Given the description of an element on the screen output the (x, y) to click on. 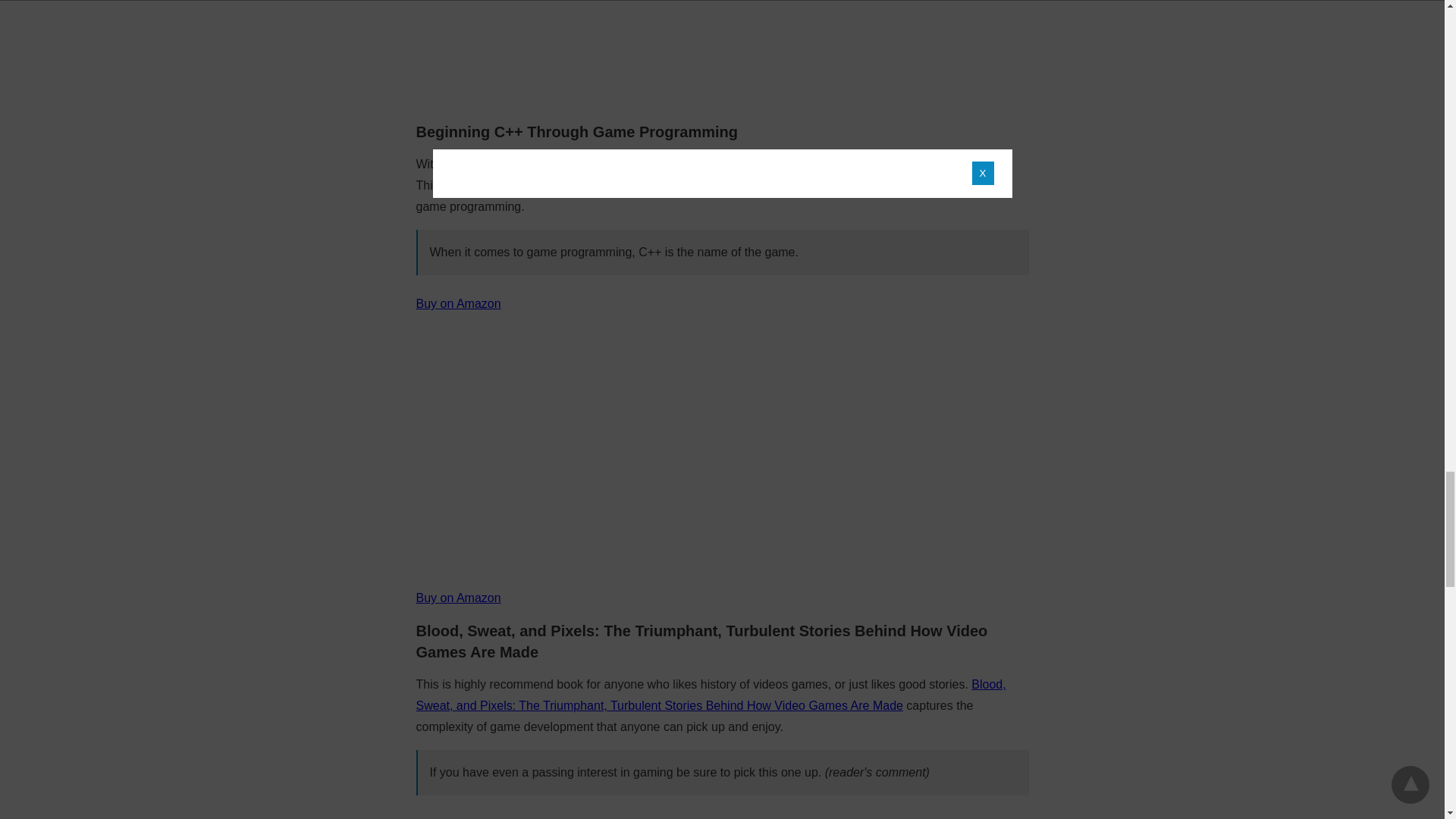
Buy on Amazon (457, 597)
Buy on Amazon (457, 303)
